Given the description of an element on the screen output the (x, y) to click on. 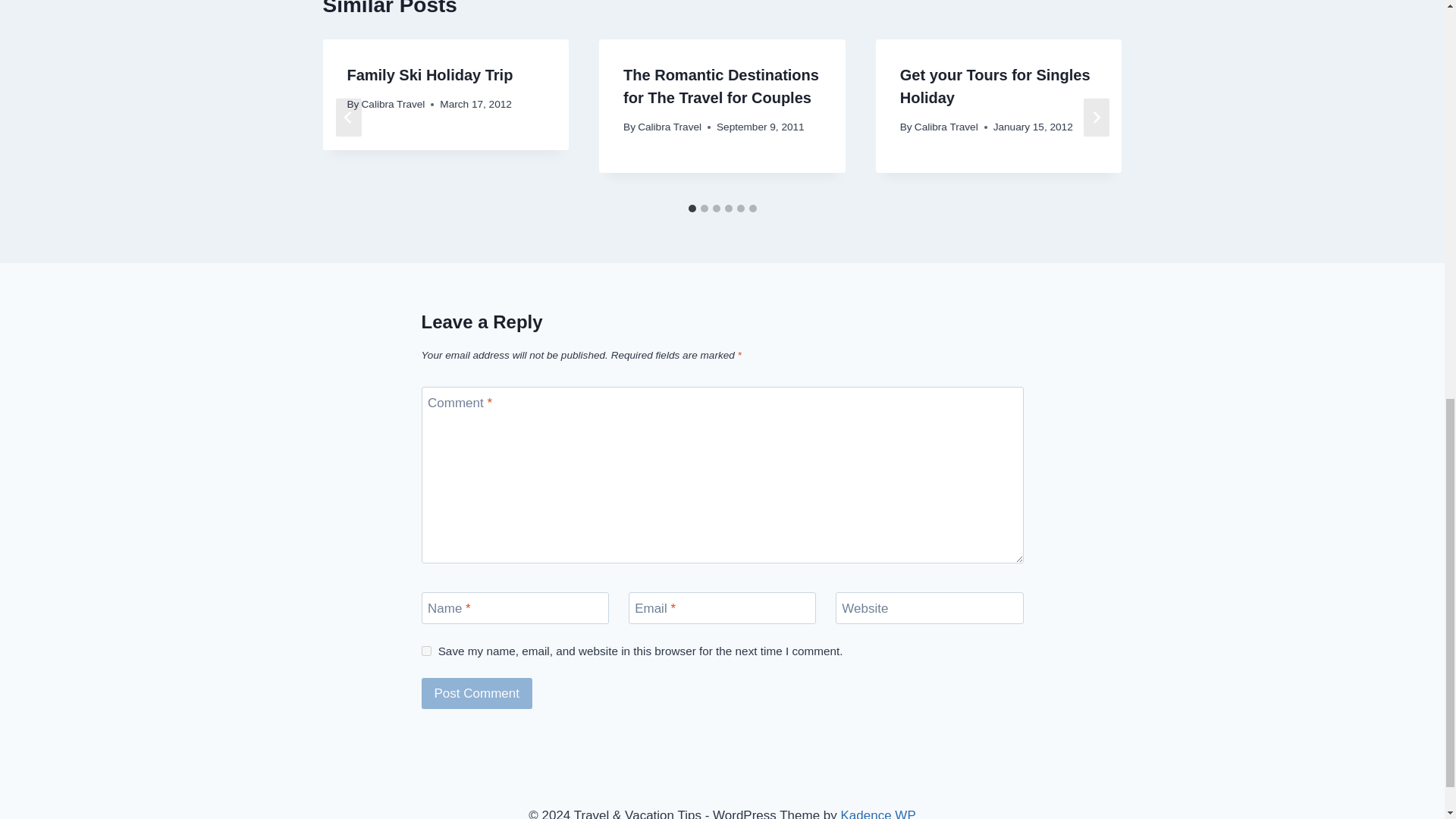
Family Ski Holiday Trip (429, 74)
yes (426, 651)
Post Comment (477, 693)
